Given the description of an element on the screen output the (x, y) to click on. 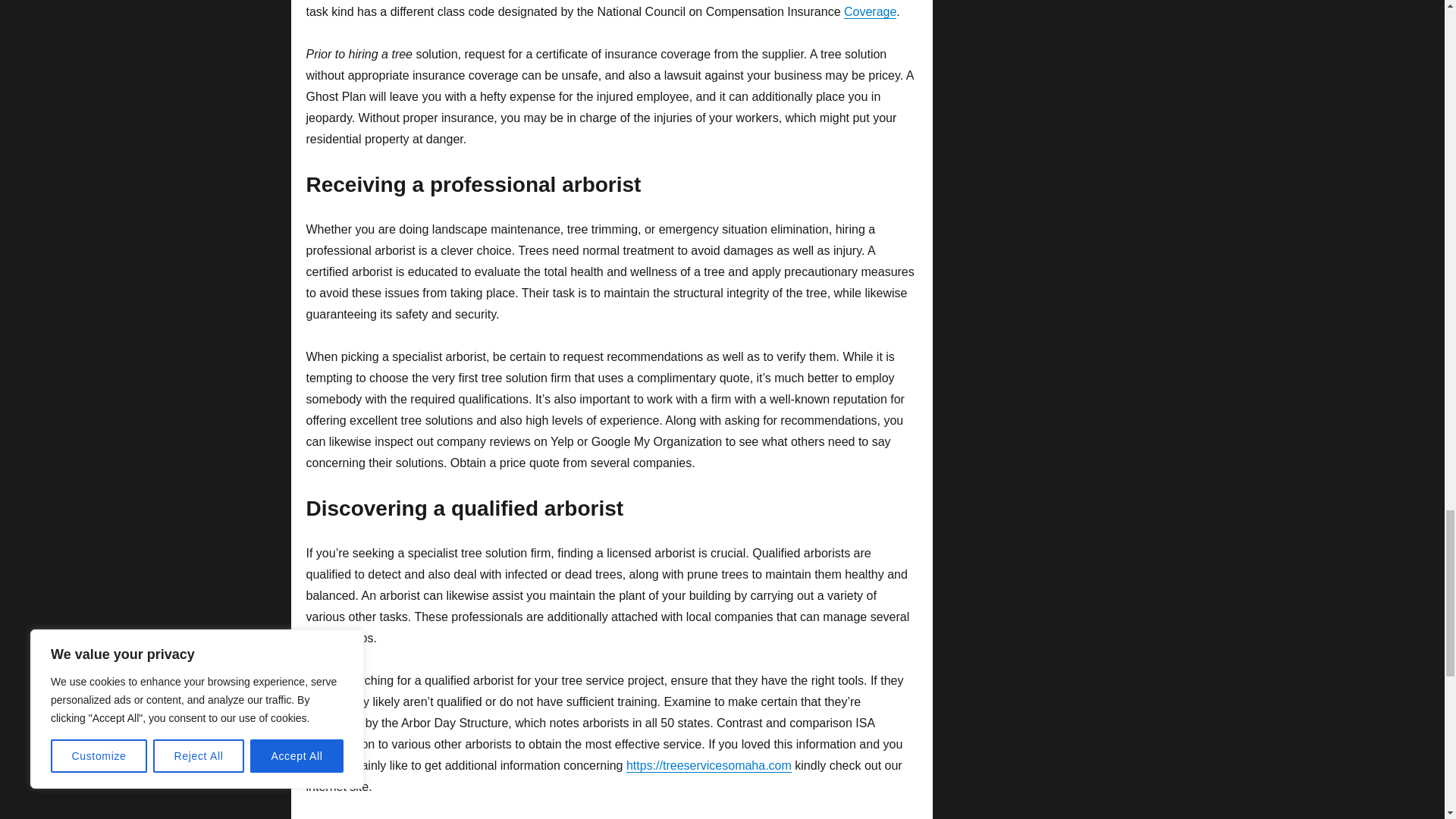
Coverage (870, 11)
